Given the description of an element on the screen output the (x, y) to click on. 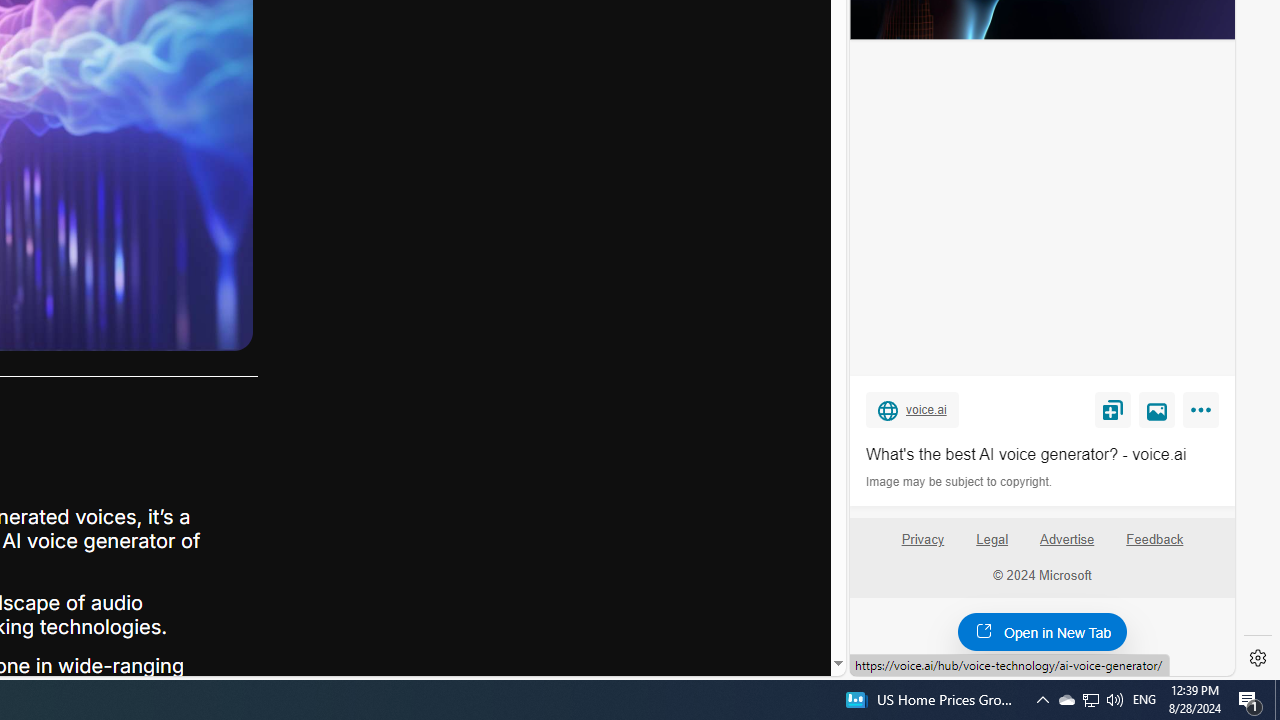
Feedback (1155, 539)
What's the best AI voice generator? - voice.ai (1042, 454)
Feedback (1154, 547)
Legal (992, 547)
Advertise (1066, 539)
voice.ai (912, 409)
Advertise (1067, 547)
Privacy (922, 539)
Open in New Tab (1042, 631)
Image may be subject to copyright. (959, 481)
View image (1157, 409)
More (1204, 413)
Settings (1258, 658)
